Given the description of an element on the screen output the (x, y) to click on. 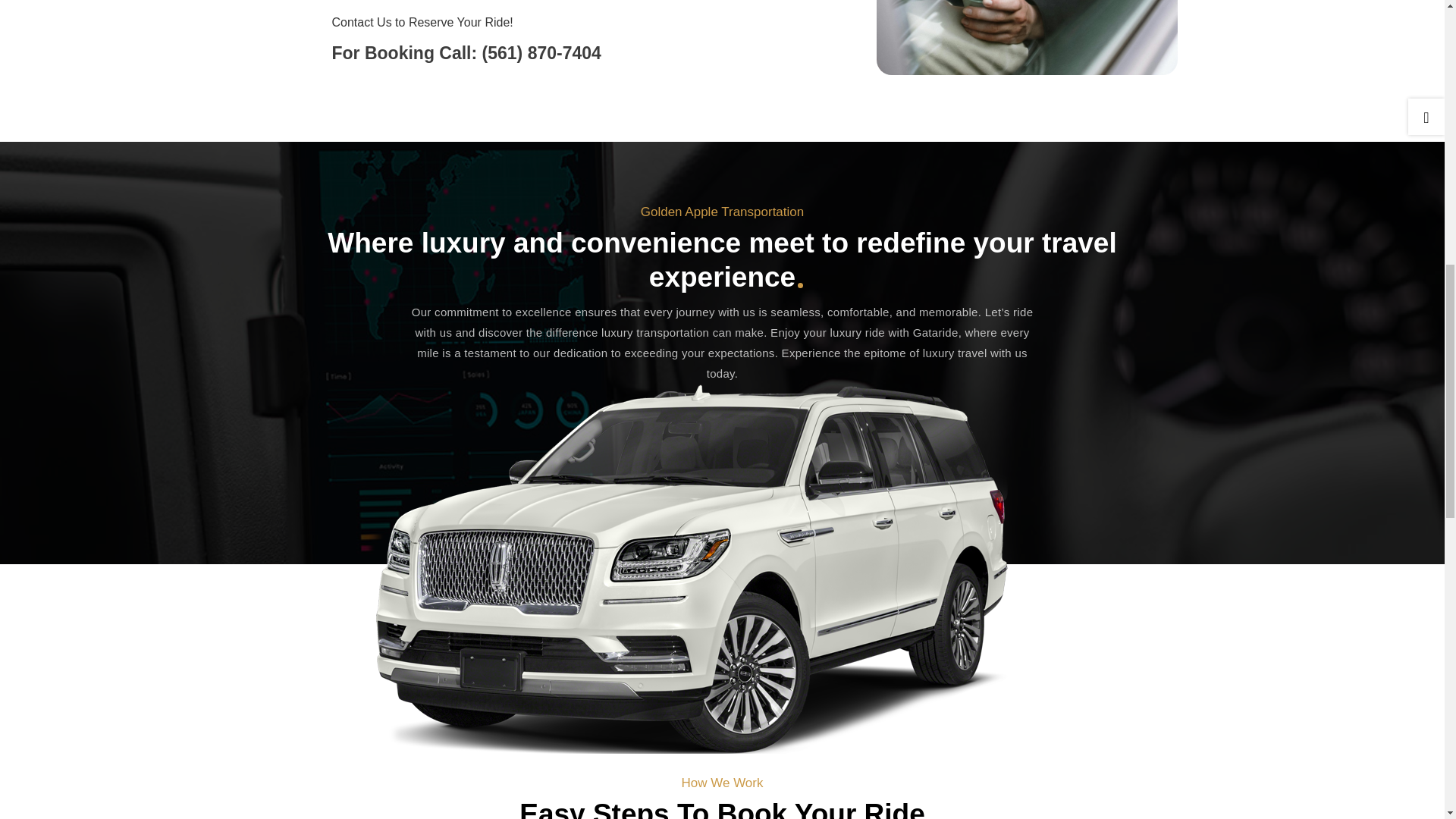
Luxury Car Service with Comfortable Seating (1026, 37)
